Given the description of an element on the screen output the (x, y) to click on. 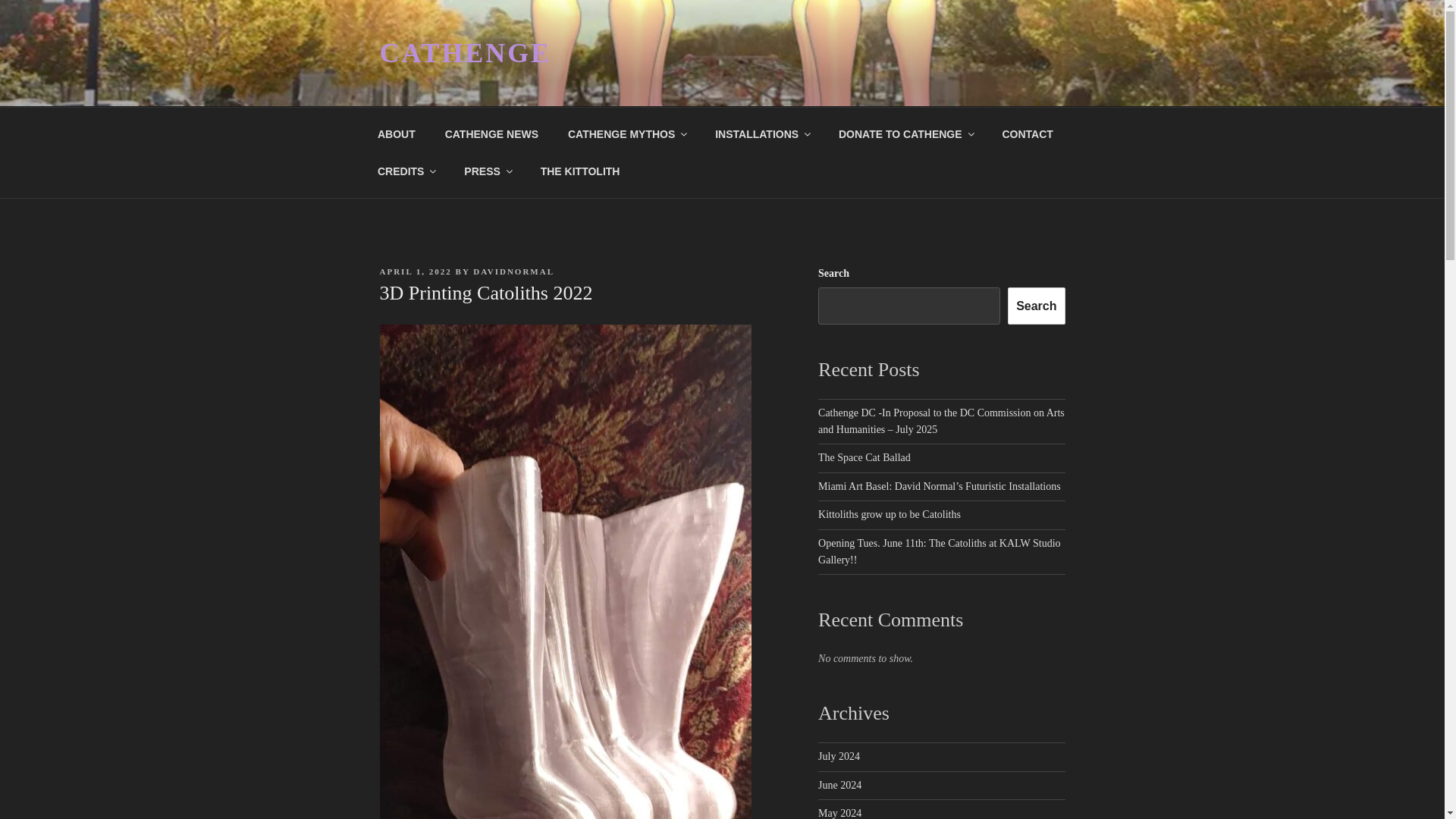
APRIL 1, 2022 (414, 271)
PRESS (487, 171)
CATHENGE NEWS (490, 133)
CATHENGE (464, 52)
ABOUT (396, 133)
CREDITS (405, 171)
INSTALLATIONS (761, 133)
CATHENGE MYTHOS (626, 133)
CONTACT (1026, 133)
DONATE TO CATHENGE (905, 133)
